Given the description of an element on the screen output the (x, y) to click on. 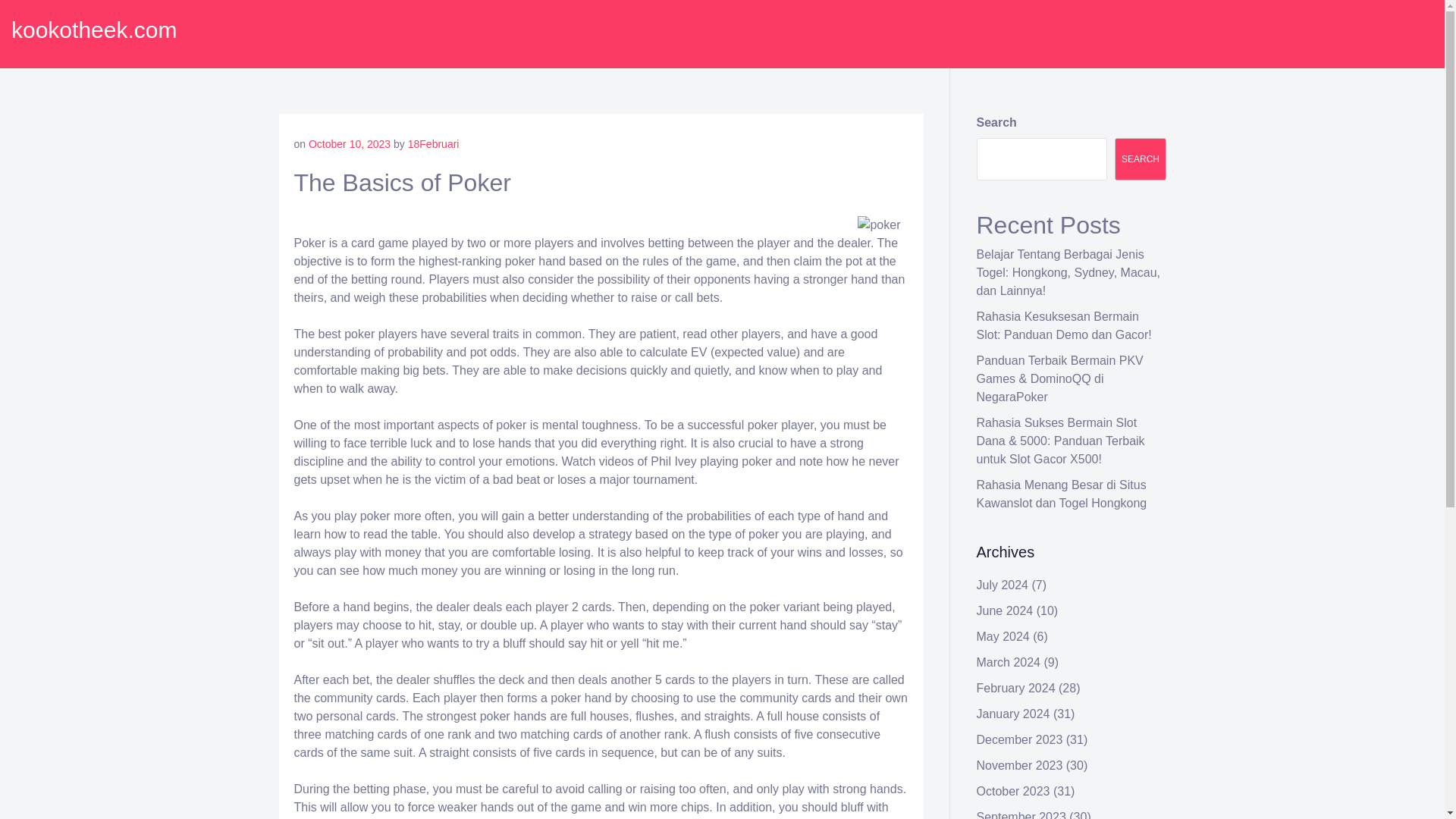
May 2024 (1002, 635)
SEARCH (1140, 159)
September 2023 (1020, 814)
July 2024 (1002, 584)
March 2024 (1008, 662)
18Februari (433, 143)
October 2023 (1012, 790)
kookotheek.com (93, 29)
October 10, 2023 (349, 143)
Rahasia Kesuksesan Bermain Slot: Panduan Demo dan Gacor! (1063, 325)
November 2023 (1019, 765)
June 2024 (1004, 610)
Rahasia Menang Besar di Situs Kawanslot dan Togel Hongkong (1061, 493)
January 2024 (1012, 713)
